Given the description of an element on the screen output the (x, y) to click on. 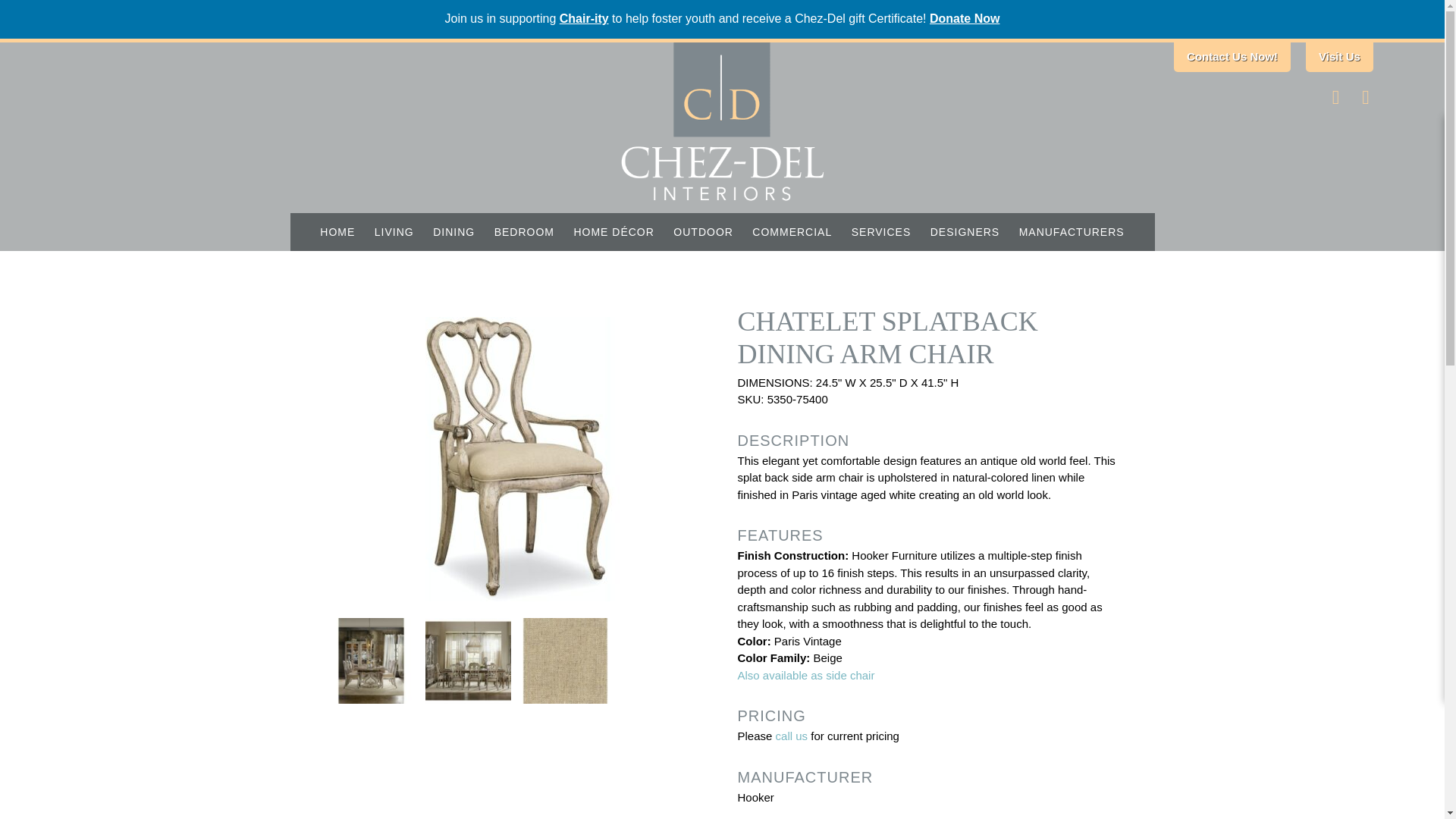
OUTDOOR (703, 231)
LIVING (394, 231)
Donate Now (964, 18)
Chair-ity (583, 18)
DINING (453, 231)
Instagram (1365, 99)
Facebook (1335, 99)
HOME (337, 231)
Visit Us (1339, 57)
BEDROOM (524, 231)
